Given the description of an element on the screen output the (x, y) to click on. 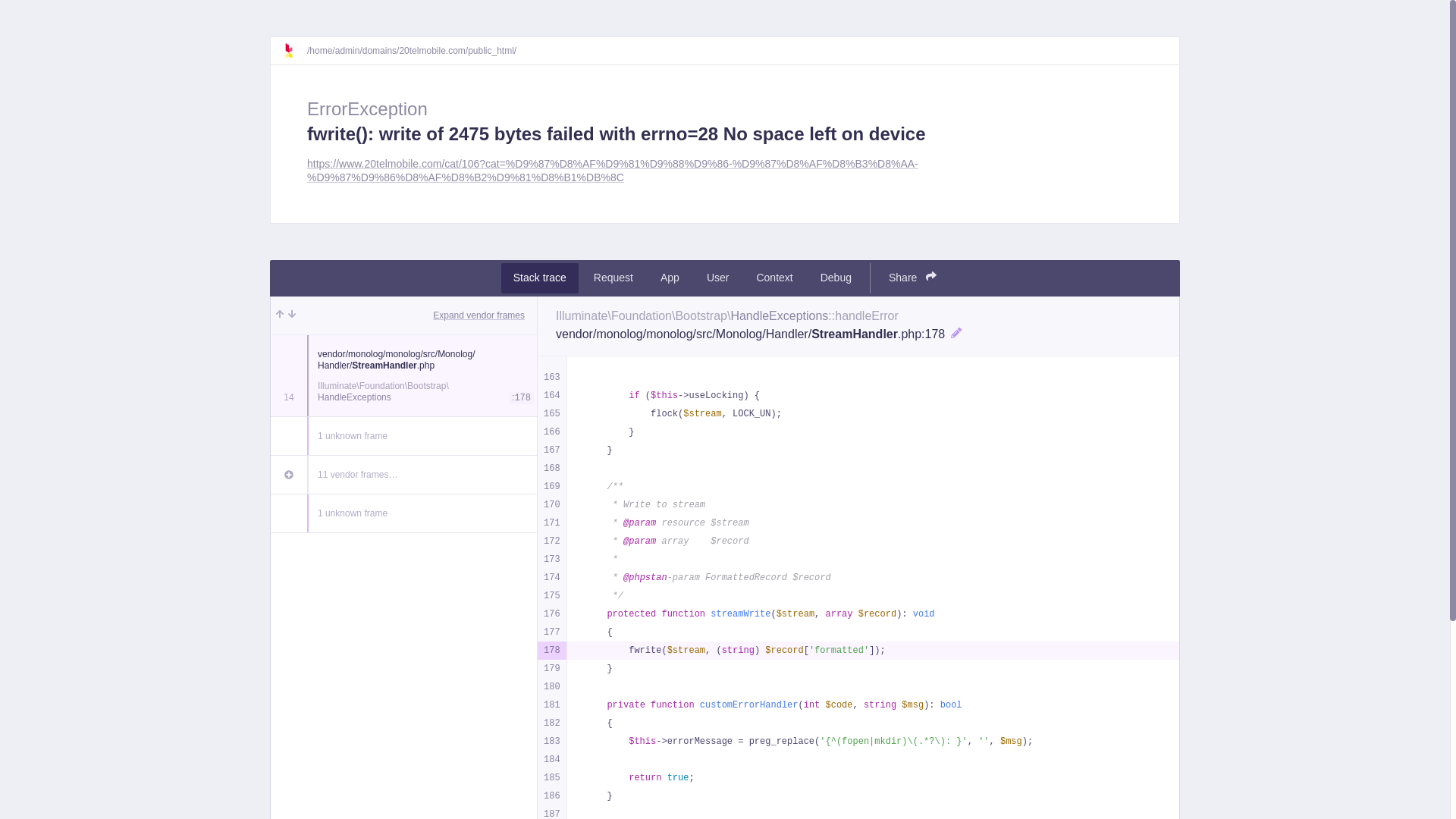
Request Element type: text (613, 277)
Context Element type: text (773, 277)
Share Element type: text (912, 277)
Frame up (Key:K) Element type: hover (279, 314)
Expand vendor frames Element type: text (478, 314)
Ignition docs Element type: hover (294, 50)
Debug Element type: text (835, 277)
App Element type: text (669, 277)
Stack trace Element type: text (539, 277)
User Element type: text (717, 277)
Frame down (Key:J) Element type: hover (291, 314)
